Given the description of an element on the screen output the (x, y) to click on. 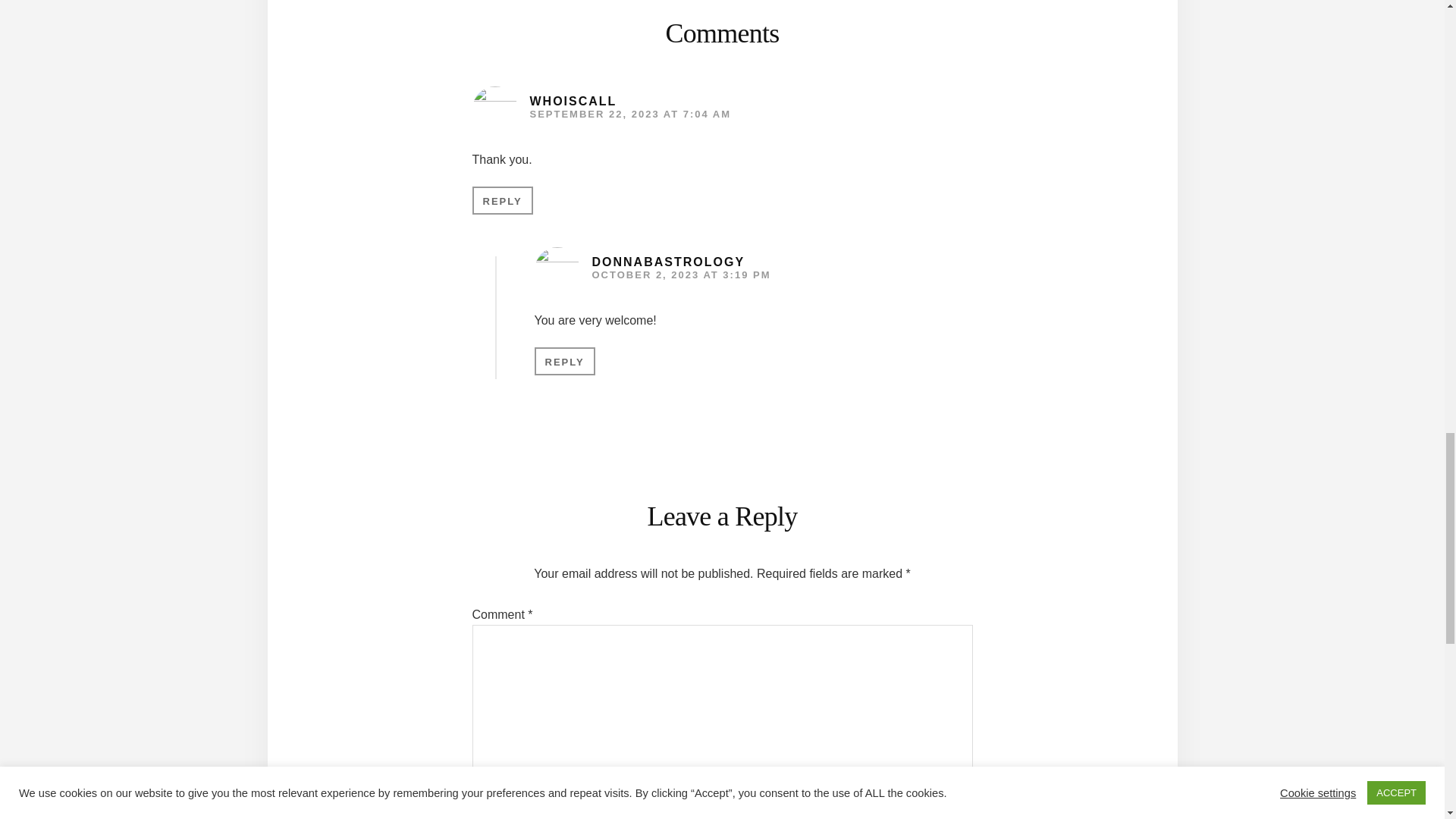
REPLY (564, 361)
WHOISCALL (572, 101)
OCTOBER 2, 2023 AT 3:19 PM (680, 274)
DONNABASTROLOGY (667, 261)
SEPTEMBER 22, 2023 AT 7:04 AM (629, 113)
REPLY (501, 200)
